Given the description of an element on the screen output the (x, y) to click on. 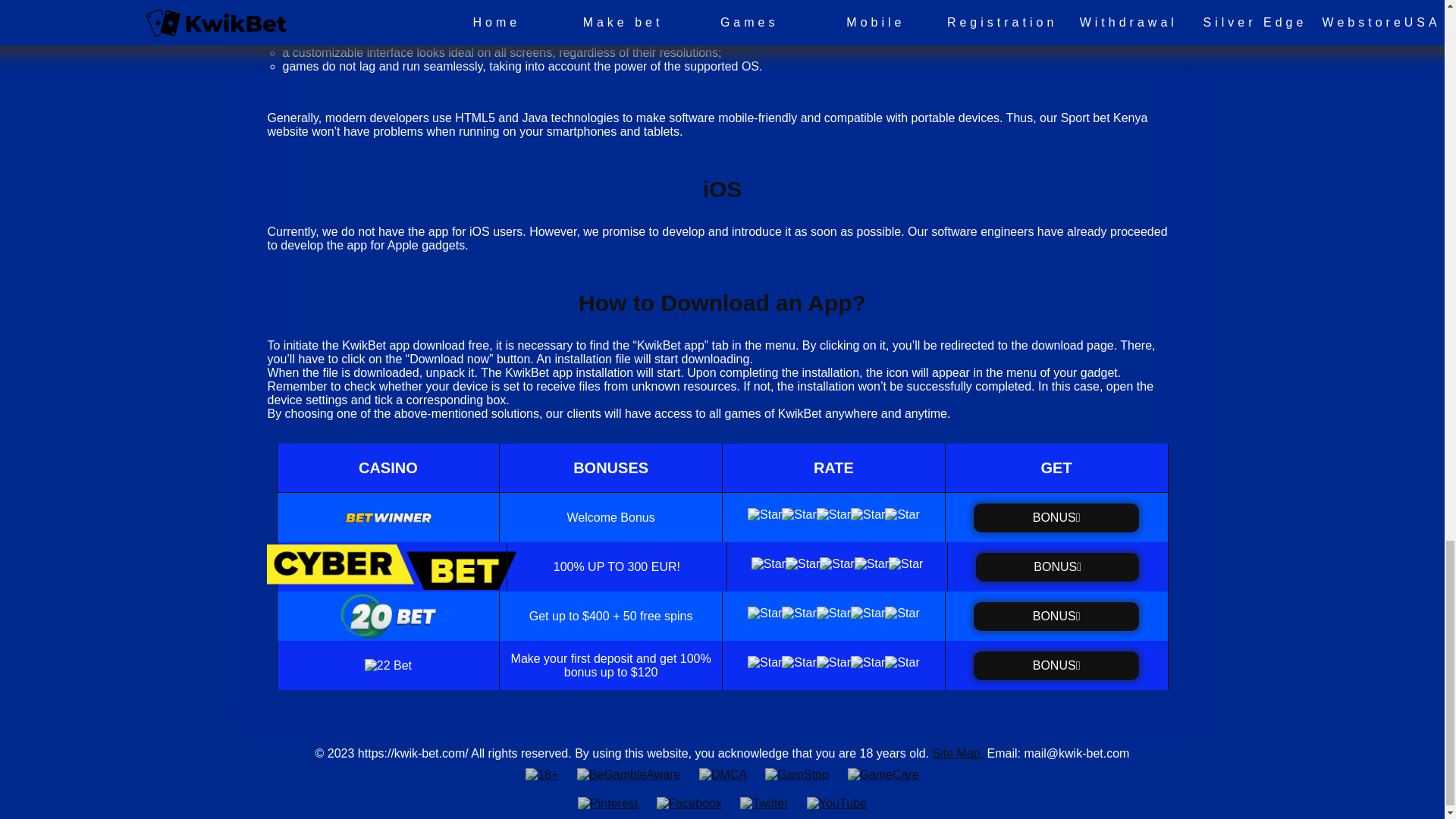
Site Map. (958, 753)
Betwinner Logo (1056, 517)
Cyber Bet (1056, 566)
GamStop (796, 774)
22Bet (1056, 664)
20Bet (1056, 615)
BeGambleAware (628, 774)
DMCA (722, 774)
